Given the description of an element on the screen output the (x, y) to click on. 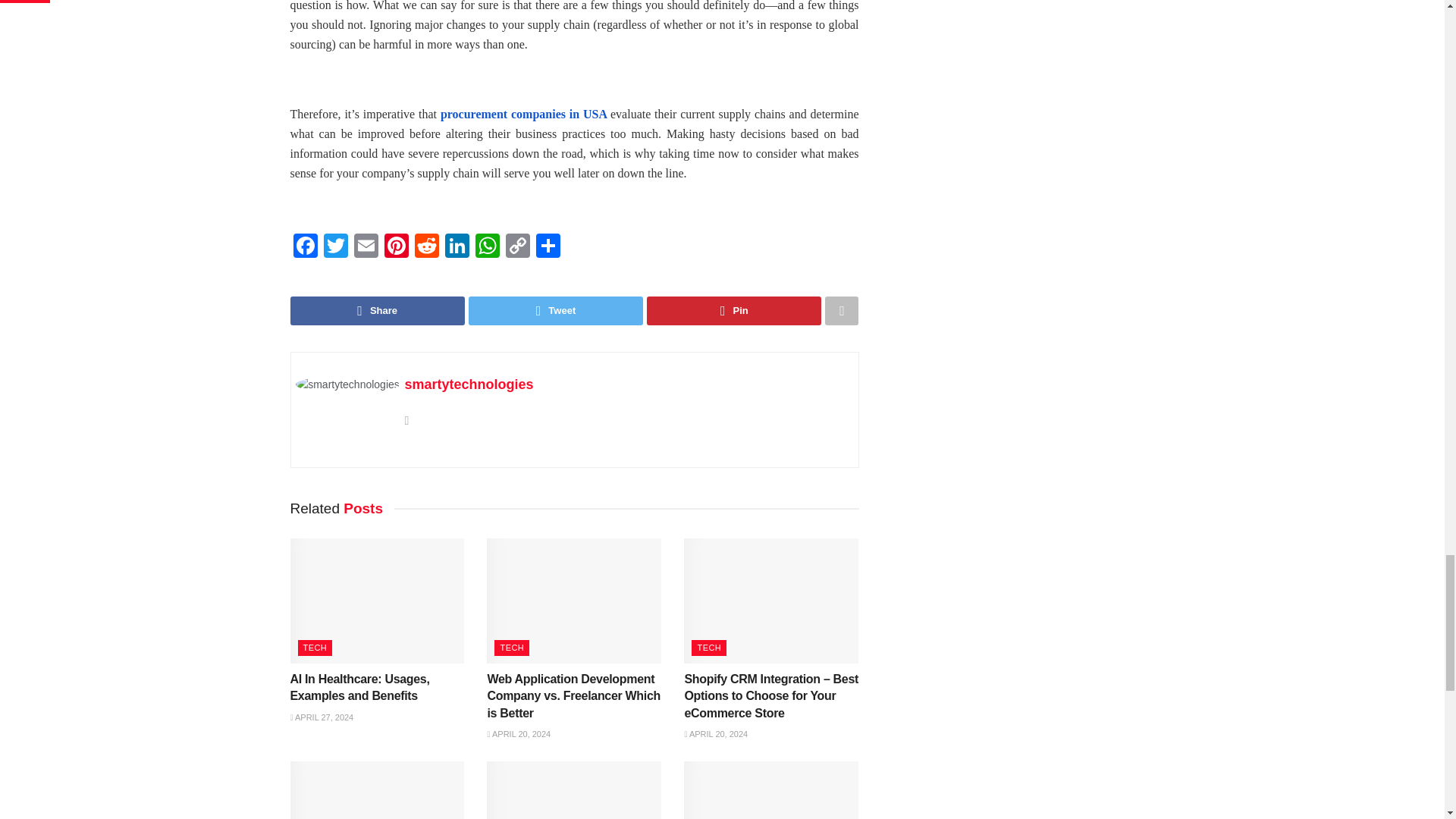
Email (365, 247)
Facebook (304, 247)
Pinterest (395, 247)
Twitter (335, 247)
